Given the description of an element on the screen output the (x, y) to click on. 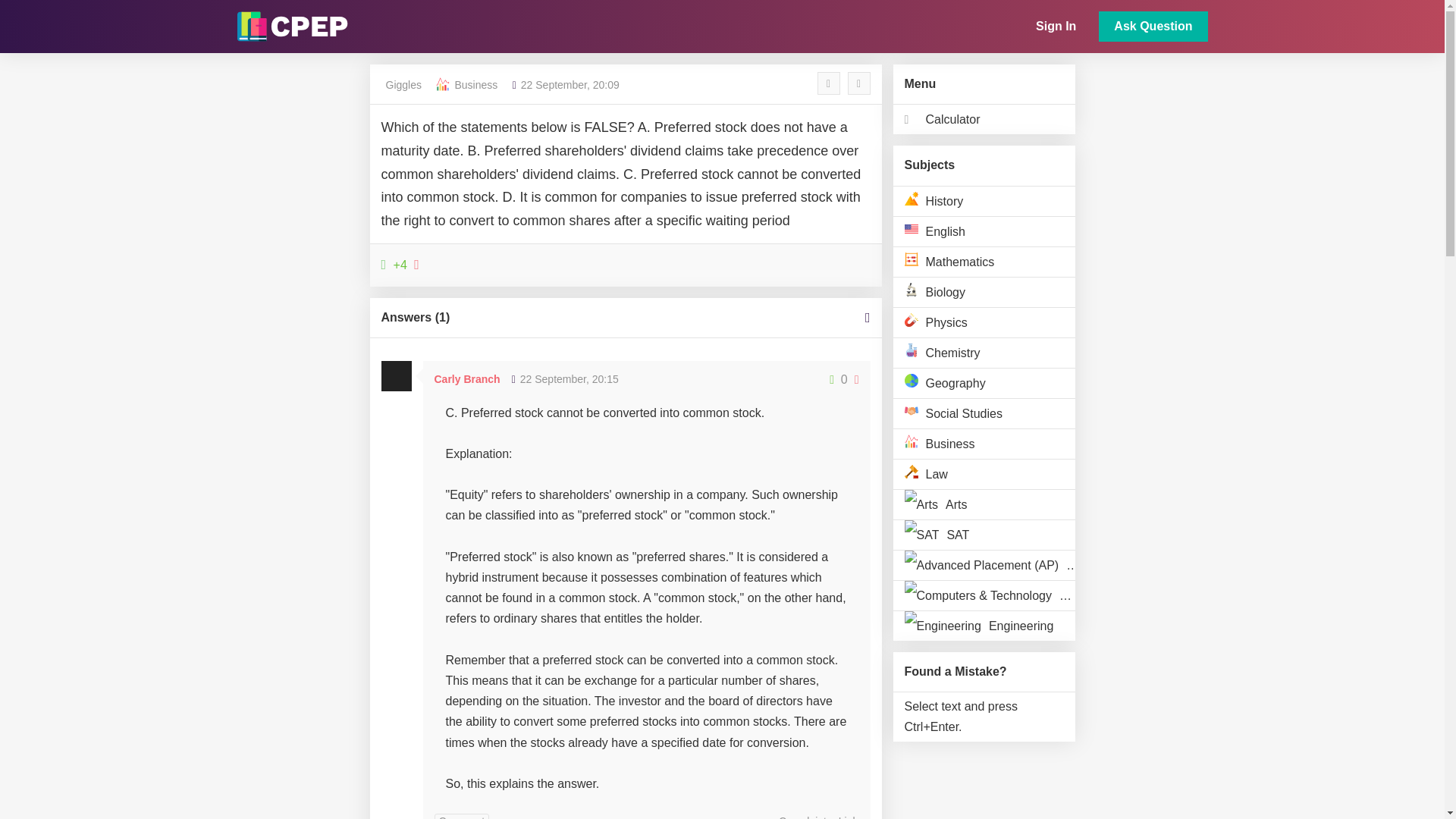
Geography (984, 382)
Comment (461, 816)
Engineering (984, 625)
Mathematics (984, 261)
English (984, 231)
SAT (984, 534)
Law (984, 473)
Ask Question (1153, 26)
Complaint (802, 816)
Physics (984, 322)
Link (848, 816)
Carly Branch (466, 378)
Calculator (984, 119)
Business (475, 84)
Biology (984, 291)
